Given the description of an element on the screen output the (x, y) to click on. 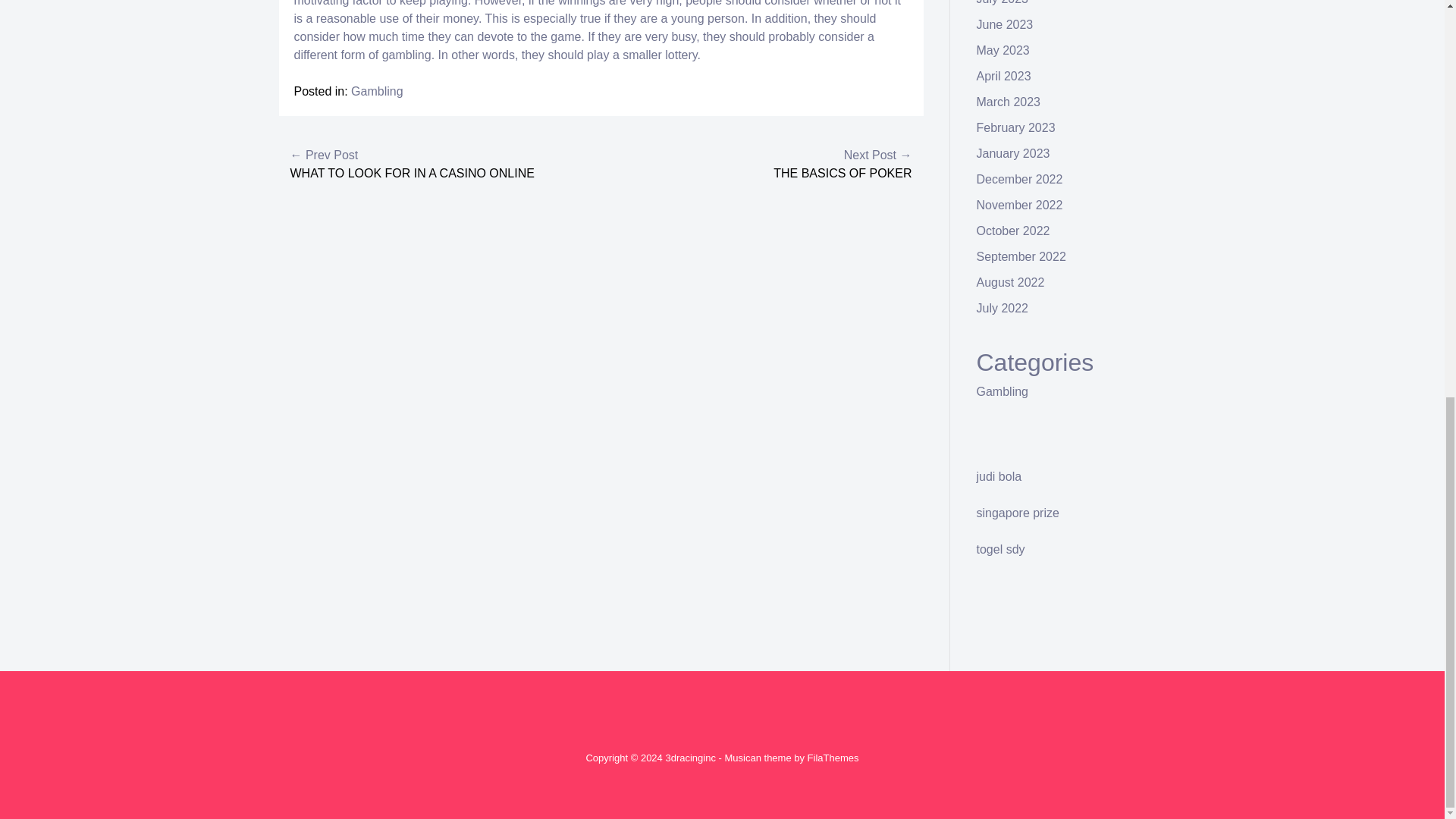
November 2022 (1019, 205)
March 2023 (1008, 101)
June 2023 (1004, 24)
September 2022 (1020, 256)
July 2022 (1002, 308)
3dracinginc (690, 757)
May 2023 (1002, 50)
January 2023 (1012, 153)
Gambling (1001, 391)
April 2023 (1003, 75)
Gambling (376, 91)
February 2023 (1015, 127)
July 2023 (1002, 2)
October 2022 (1012, 230)
December 2022 (1019, 178)
